Given the description of an element on the screen output the (x, y) to click on. 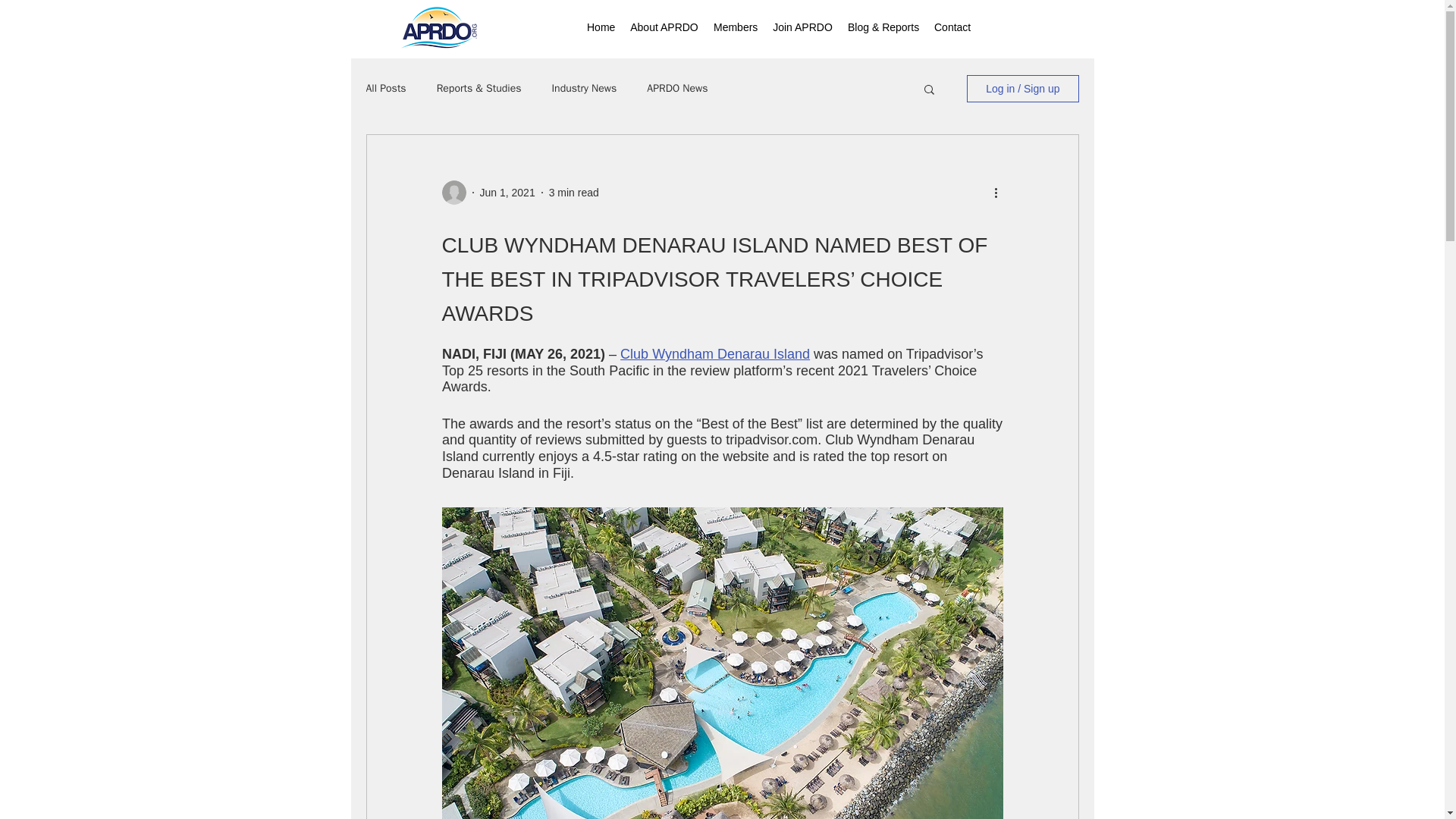
Contact (952, 26)
Home (601, 26)
APRDO News (676, 88)
3 min read (573, 192)
Club Wyndham Denarau Island (714, 353)
All Posts (385, 88)
Industry News (583, 88)
Members (735, 26)
Join APRDO (802, 26)
Jun 1, 2021 (506, 192)
